Given the description of an element on the screen output the (x, y) to click on. 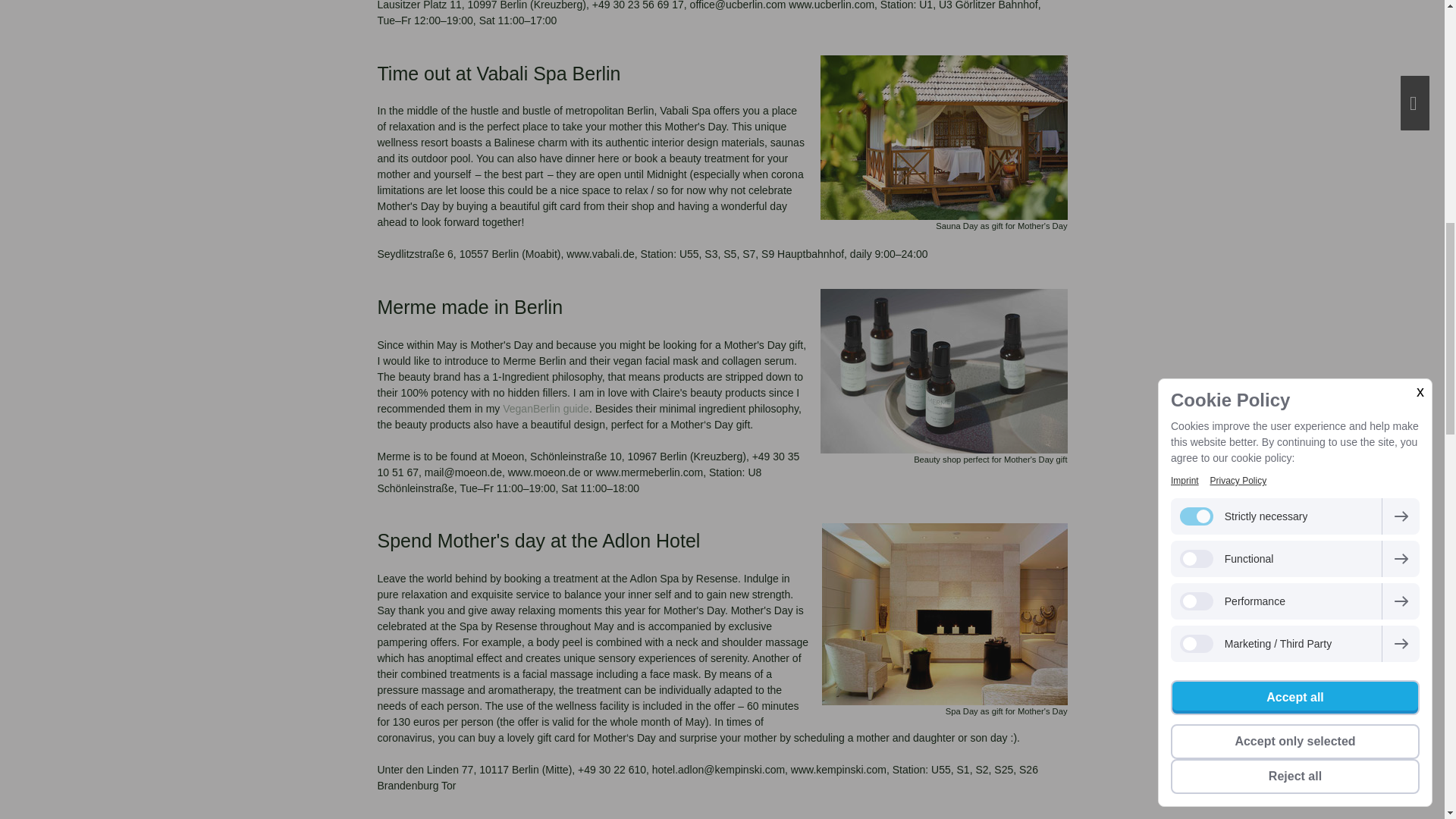
VeganBerlin Map (545, 408)
